Given the description of an element on the screen output the (x, y) to click on. 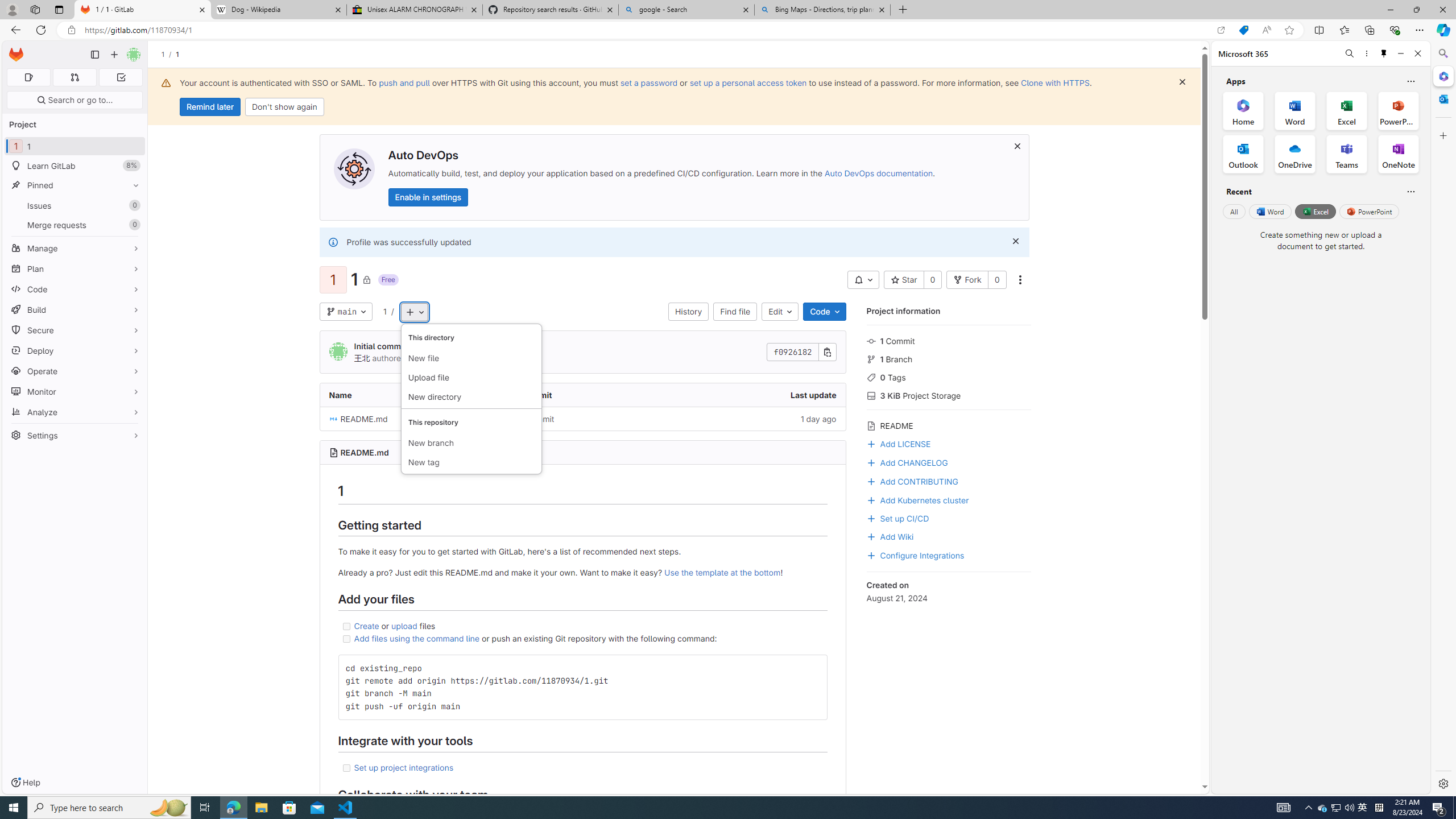
Plan (74, 268)
Add LICENSE (948, 442)
Class: btn btn-default btn-md gl-button btn-icon has-tooltip (813, 667)
Class: tree-item (582, 418)
Dog - Wikipedia (277, 9)
Find file (735, 311)
Class: s16 gl-icon gl-button-icon  (1015, 240)
Pinned (74, 185)
Teams Office App (1346, 154)
Copy commit SHA (827, 352)
main (345, 311)
Create (366, 625)
